Given the description of an element on the screen output the (x, y) to click on. 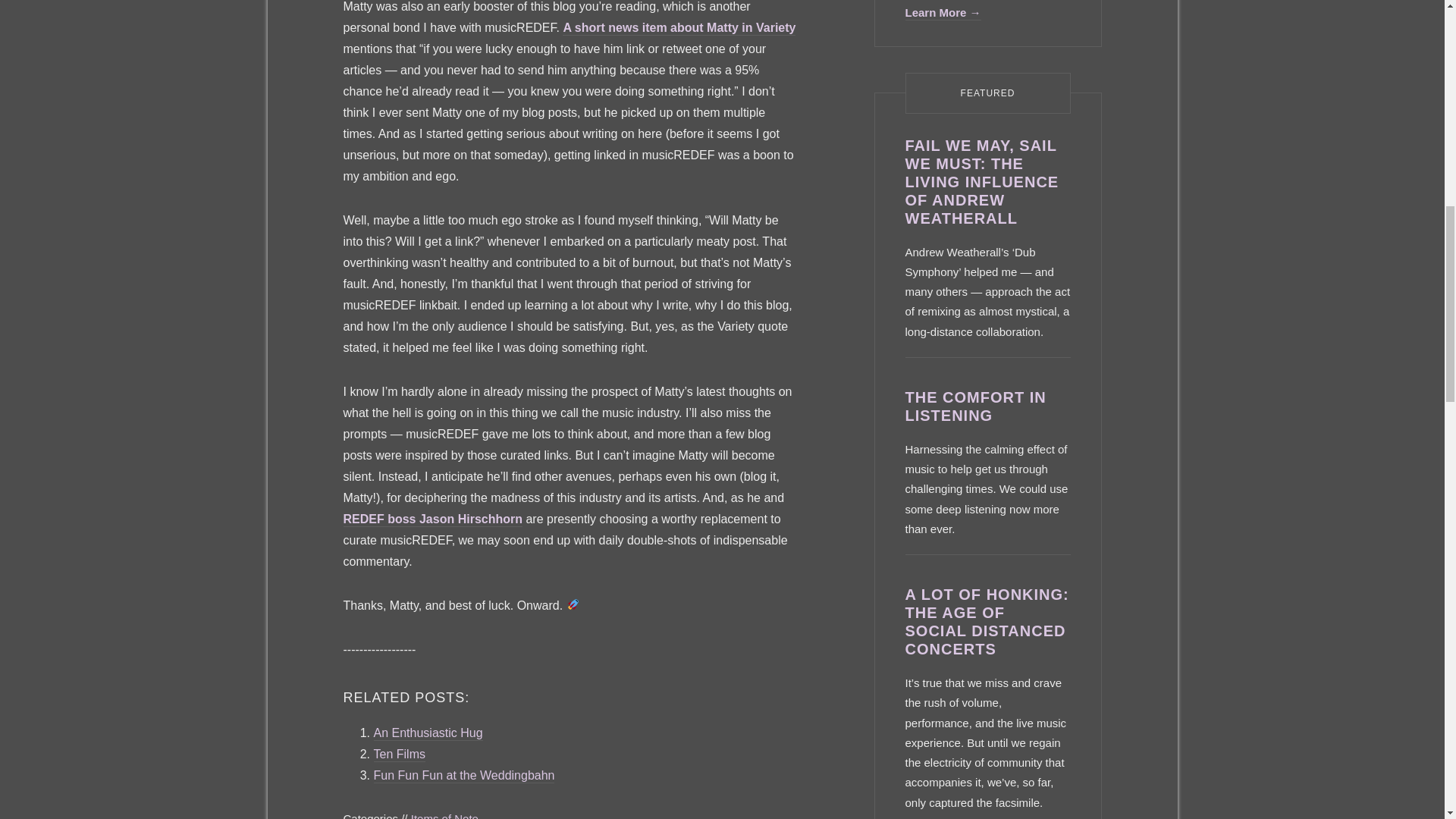
Fun Fun Fun at the Weddingbahn (463, 775)
Fun Fun Fun at the Weddingbahn (463, 775)
Items of Note (444, 815)
A LOT OF HONKING: THE AGE OF SOCIAL DISTANCED CONCERTS (986, 622)
Ten Films (398, 754)
THE COMFORT IN LISTENING (975, 407)
Ten Films (398, 754)
An Enthusiastic Hug (426, 733)
REDEF boss Jason Hirschhorn (432, 519)
A short news item about Matty in Variety (678, 28)
An Enthusiastic Hug (426, 733)
